Given the description of an element on the screen output the (x, y) to click on. 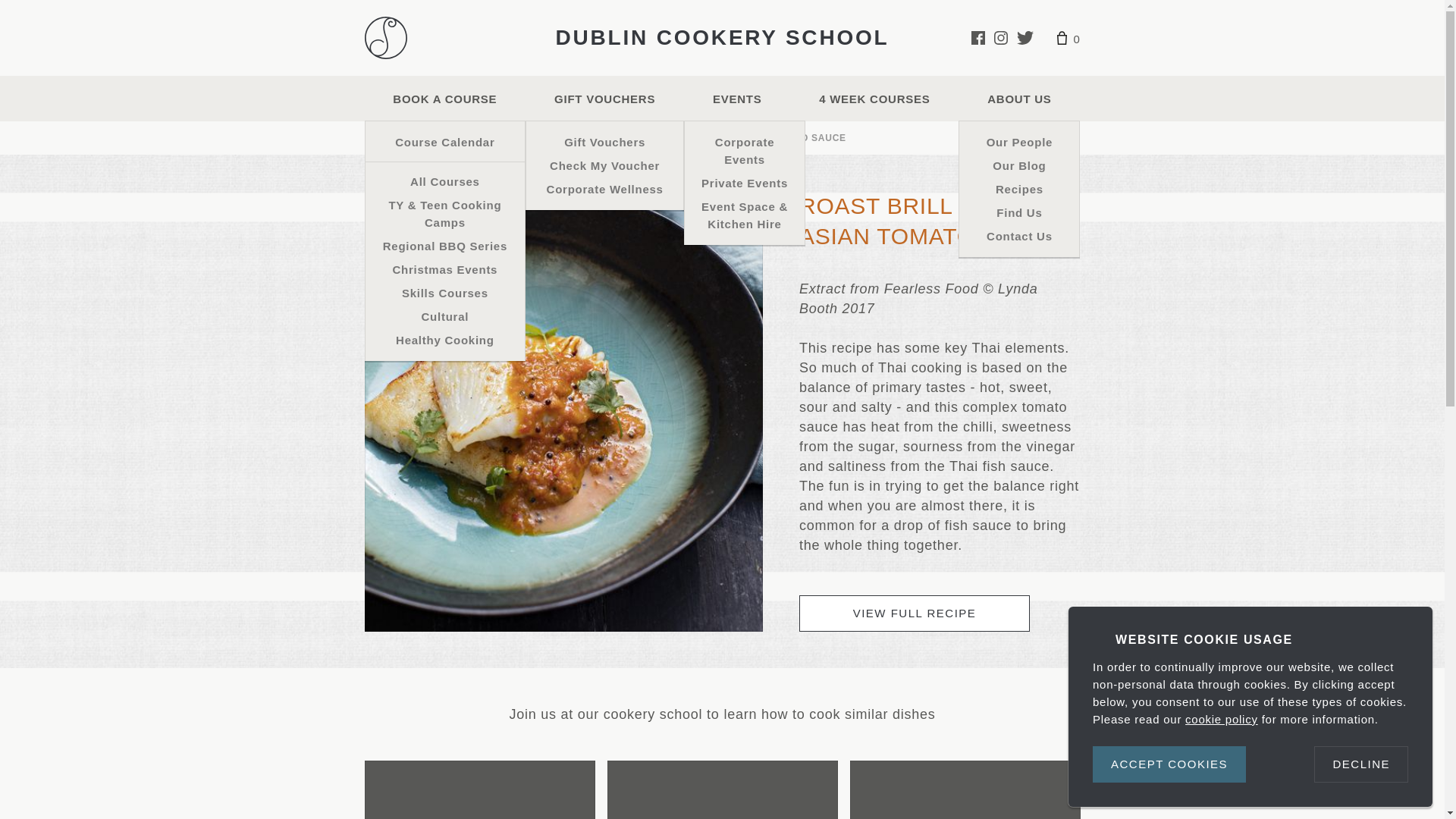
Healthy Cooking (445, 340)
Regional BBQ Series (445, 245)
Cultural (445, 316)
All Courses (445, 181)
Corporate Events (744, 150)
RECIPES (490, 137)
SEAFOOD RECIPES (573, 137)
EVENTS (737, 98)
Gift Vouchers (603, 141)
Follow us on Twitter (1025, 37)
